Given the description of an element on the screen output the (x, y) to click on. 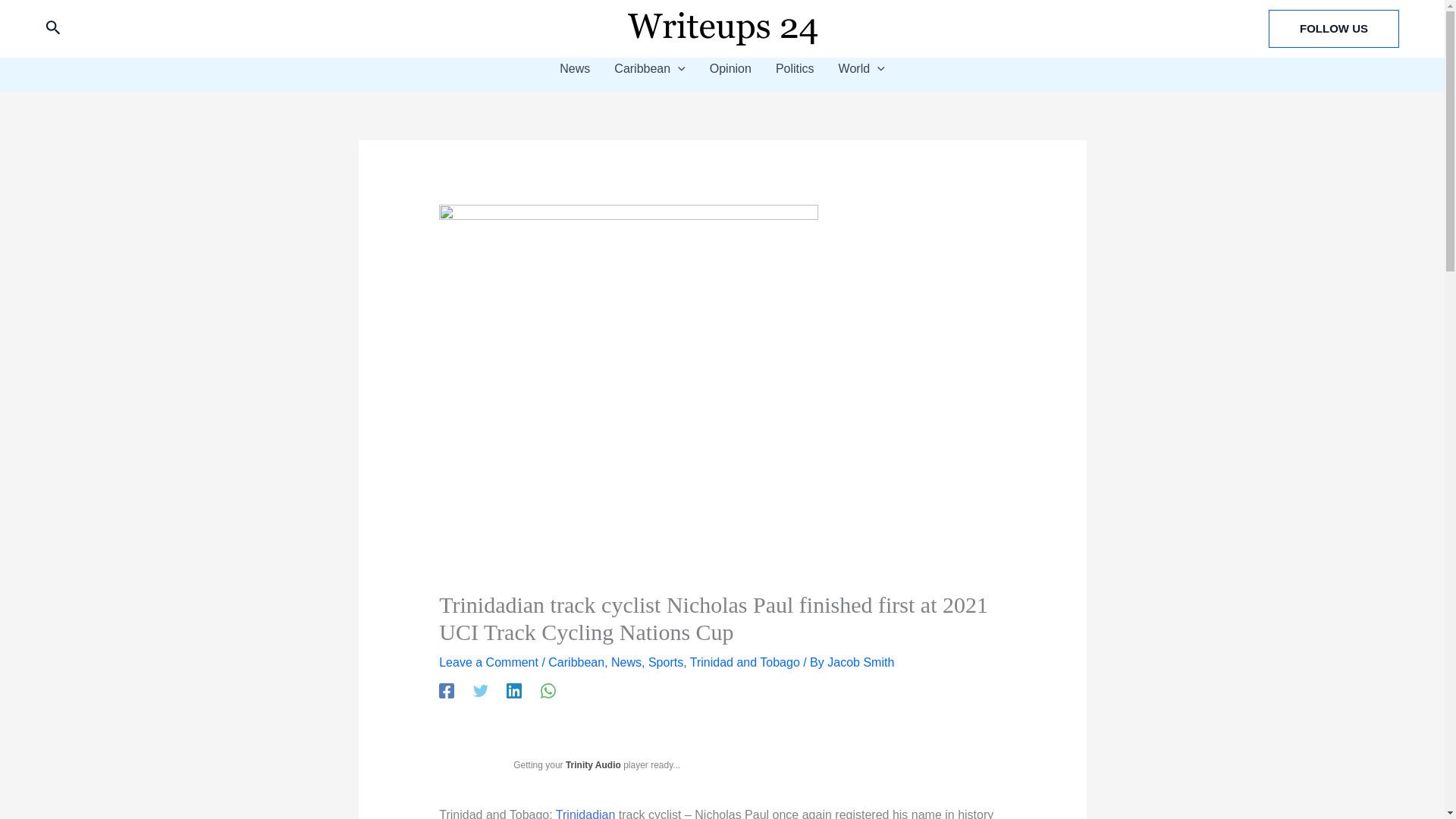
Jacob Smith (860, 662)
Caribbean (576, 662)
View all posts by Jacob Smith (860, 662)
Trinidad and Tobago (744, 662)
News (626, 662)
Sports (664, 662)
Leave a Comment (488, 662)
Politics (794, 68)
Caribbean (649, 68)
Opinion (729, 68)
